Given the description of an element on the screen output the (x, y) to click on. 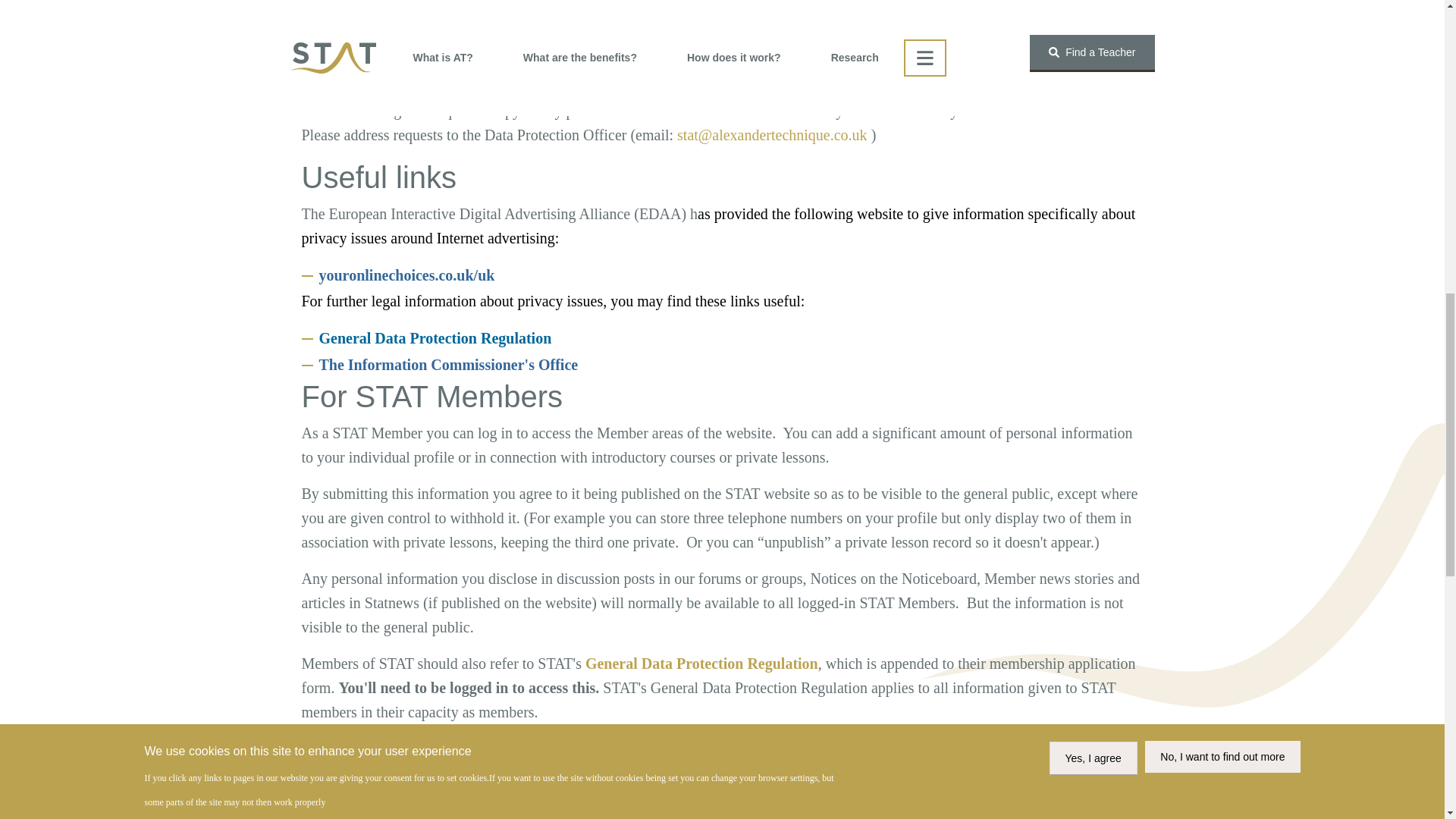
The Information Commissioner's Office (448, 364)
General Data Protection Regulation (434, 338)
General Data Protection Regulation (701, 663)
General Data Protection Regulation (701, 663)
